Given the description of an element on the screen output the (x, y) to click on. 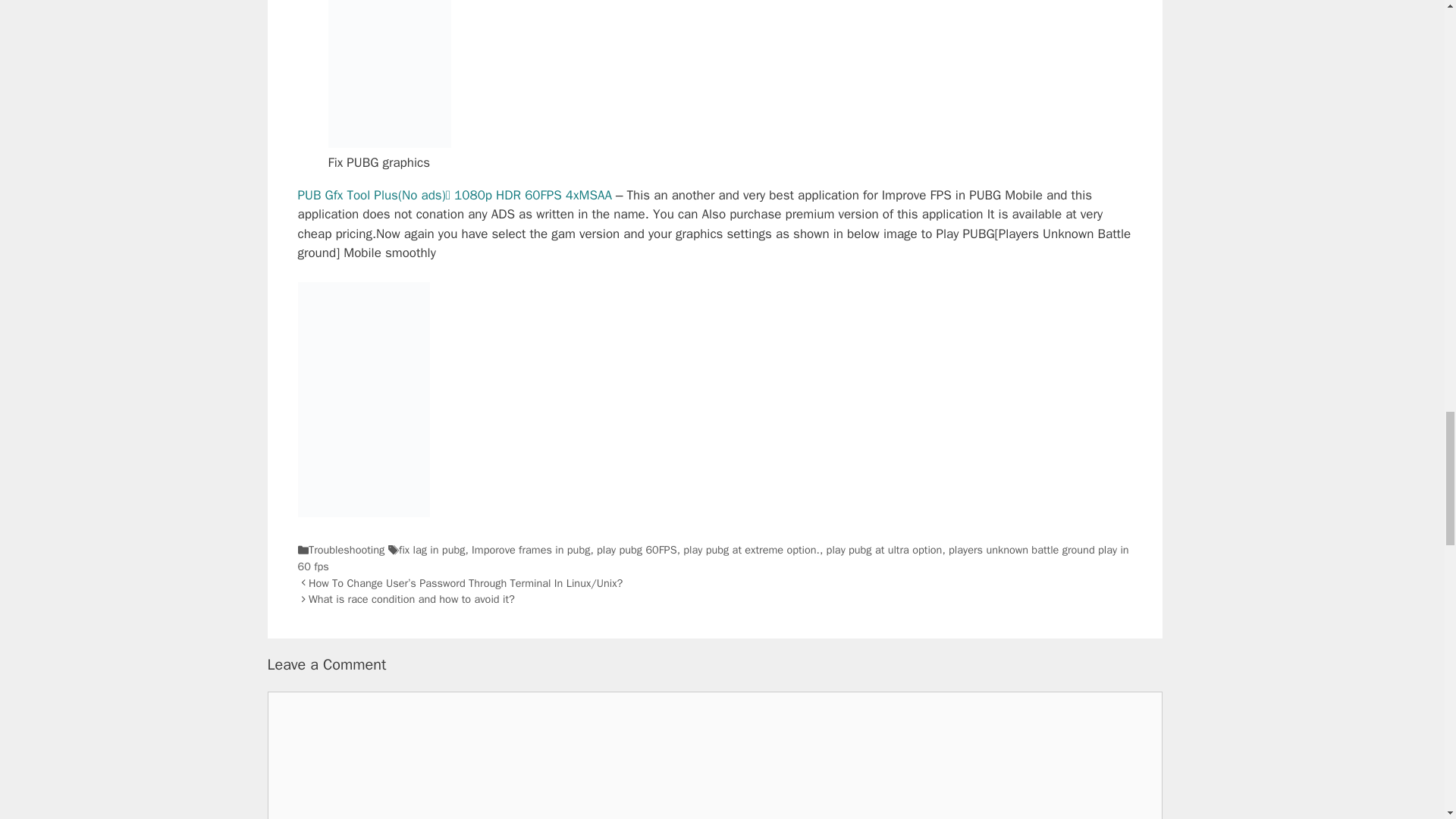
fix lag in pubg (431, 549)
play pubg at extreme option. (750, 549)
players unknown battle ground play in 60 fps (712, 557)
Troubleshooting (346, 549)
play pubg at ultra option (884, 549)
Imporove frames in pubg (530, 549)
play pubg 60FPS (636, 549)
What is race condition and how to avoid it? (411, 599)
